Given the description of an element on the screen output the (x, y) to click on. 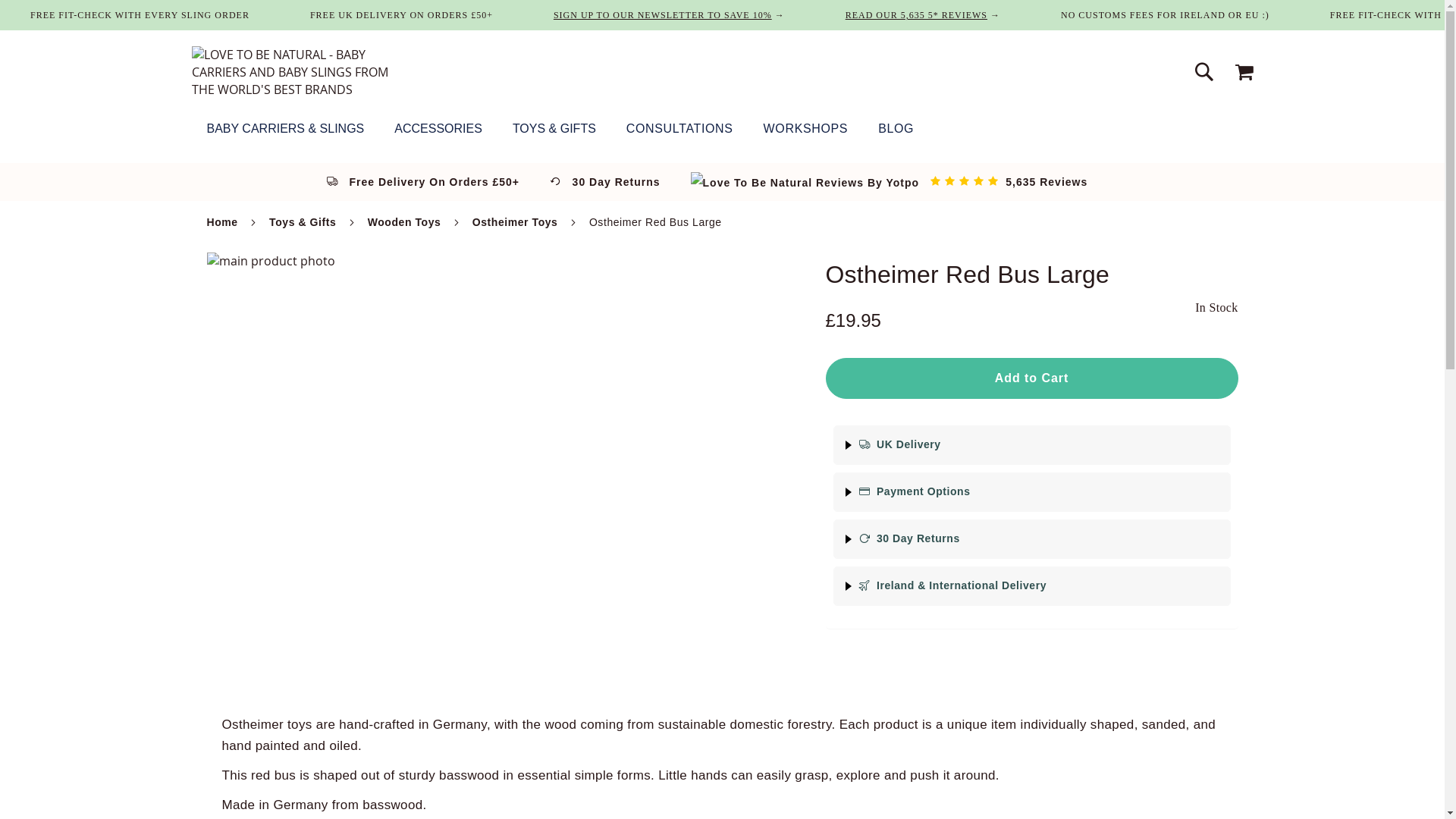
Availability (1216, 307)
Go to Home Page (221, 222)
Add to Cart (1031, 377)
